Given the description of an element on the screen output the (x, y) to click on. 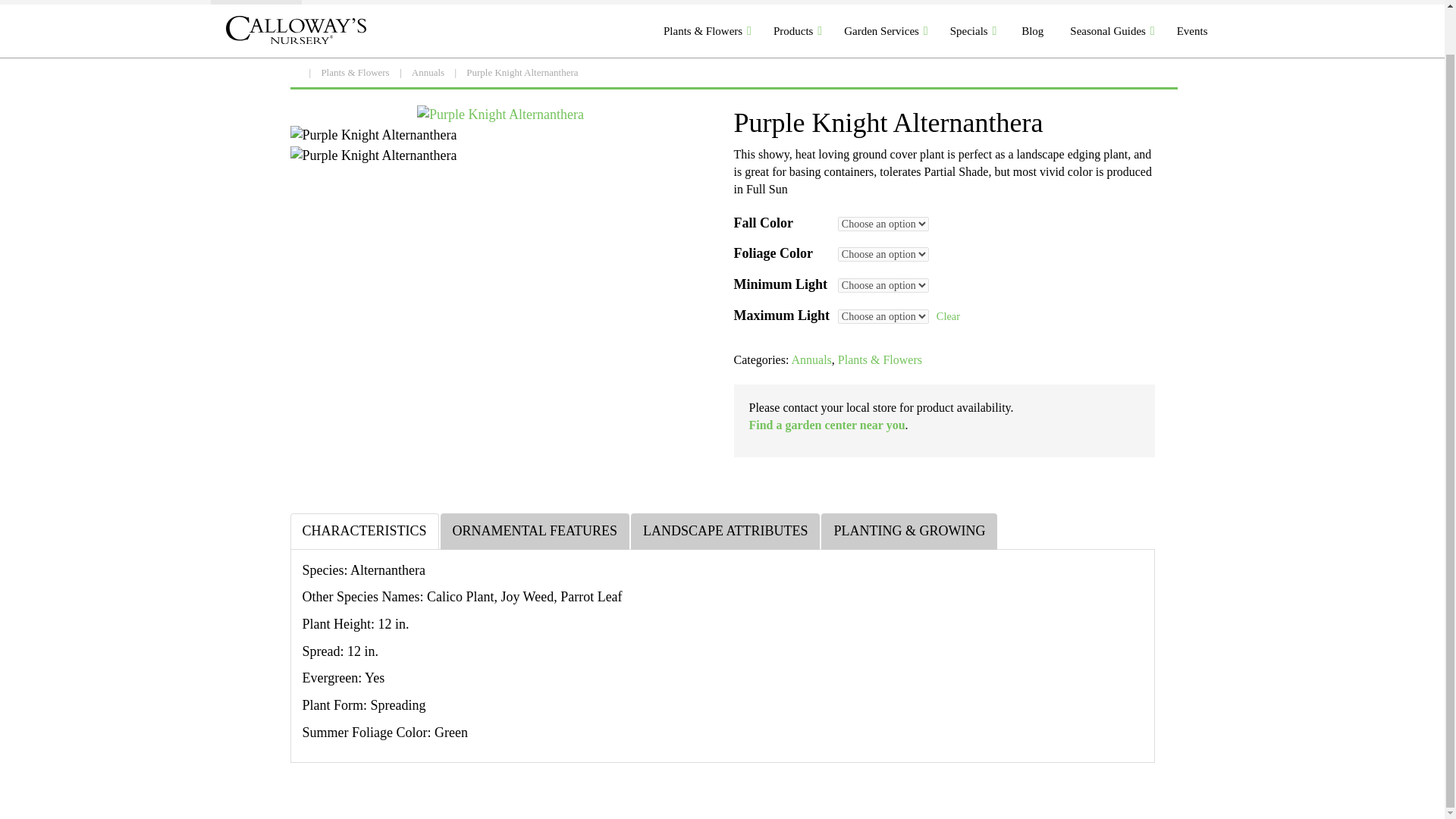
View your shopping cart (1197, 2)
0 (1197, 2)
Events (1194, 30)
Specials (973, 30)
Seasonal Guides (1111, 30)
Cornelius Logo (256, 2)
Calloway's Logo (293, 30)
 Blog (1032, 30)
Calloway's Logo (295, 29)
Garden Services (884, 30)
Garden Center Locations (371, 2)
